Given the description of an element on the screen output the (x, y) to click on. 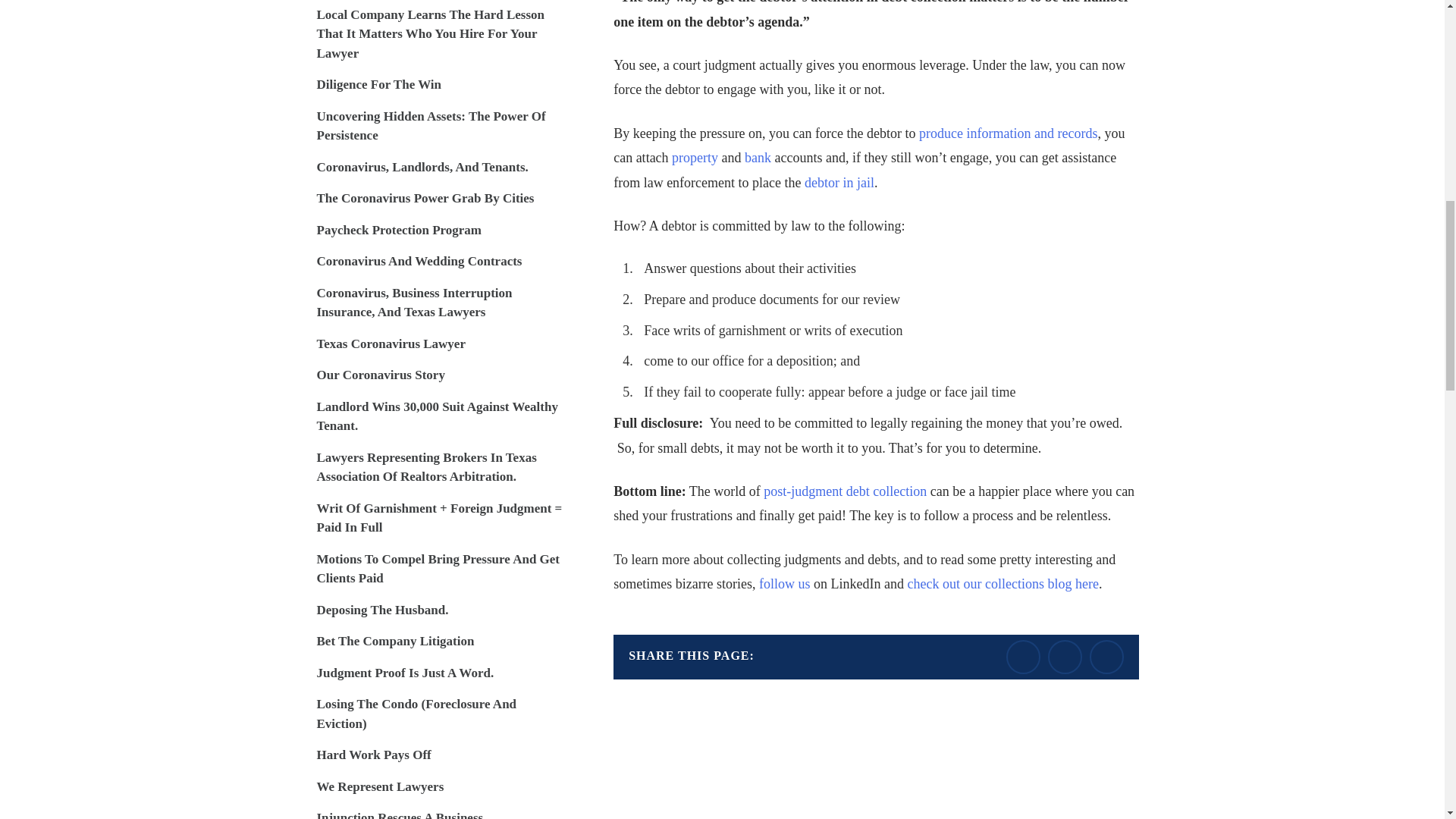
property (694, 157)
produce information and records (1007, 133)
bank (757, 157)
debtor in jail (840, 182)
